Given the description of an element on the screen output the (x, y) to click on. 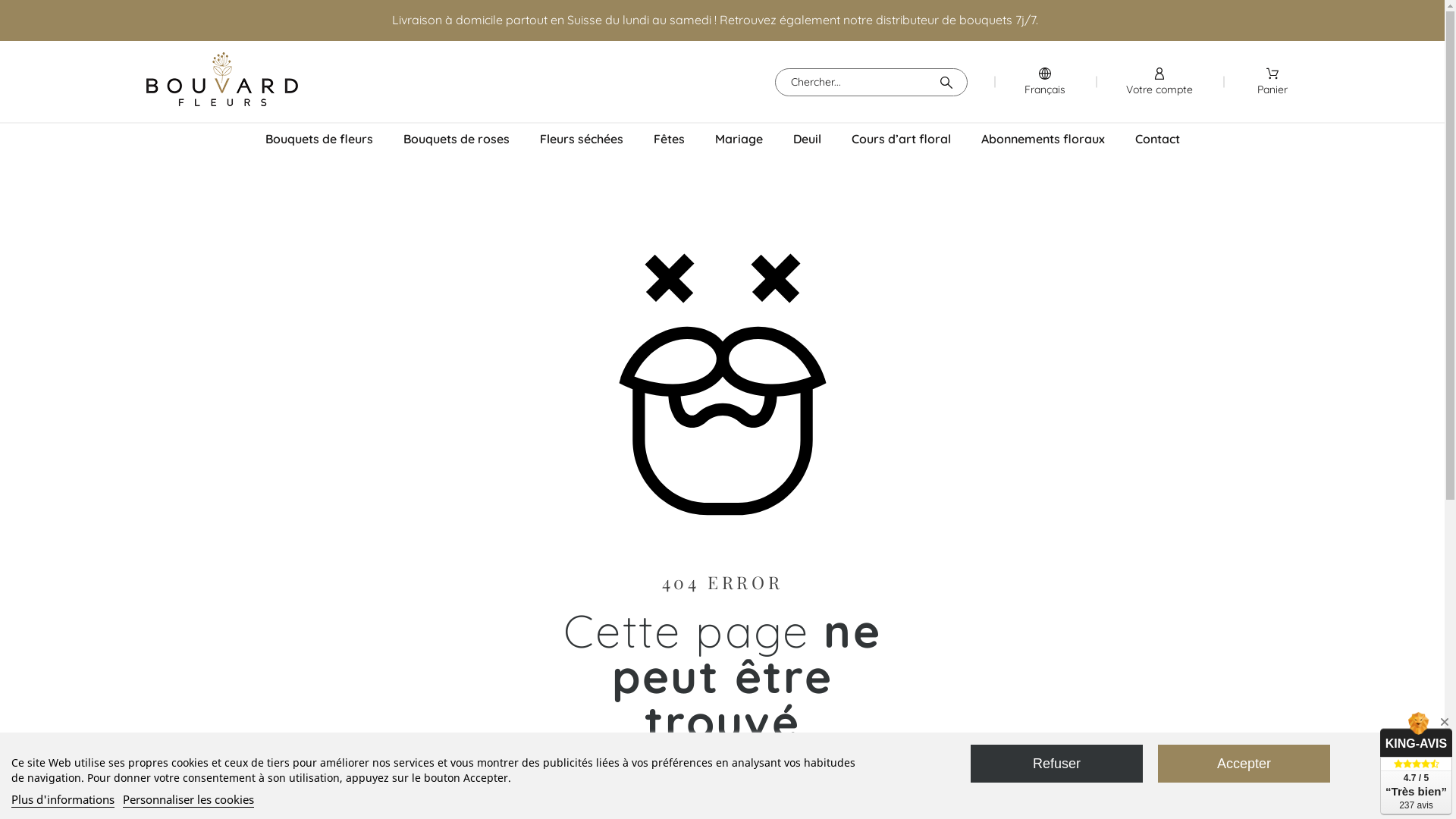
Contact Element type: text (1156, 139)
Bouquets de roses Element type: text (456, 139)
Plus d'informations Element type: text (62, 799)
Refuser Element type: text (1056, 763)
Accepter Element type: text (1243, 763)
Deuil Element type: text (807, 139)
Personnaliser les cookies Element type: text (188, 799)
Mariage Element type: text (738, 139)
Bouquets de fleurs Element type: text (319, 139)
Bouvard Fleurs Element type: hover (221, 81)
Votre compte Element type: text (1158, 81)
Abonnements floraux Element type: text (1043, 139)
Panier Element type: text (1271, 81)
